Given the description of an element on the screen output the (x, y) to click on. 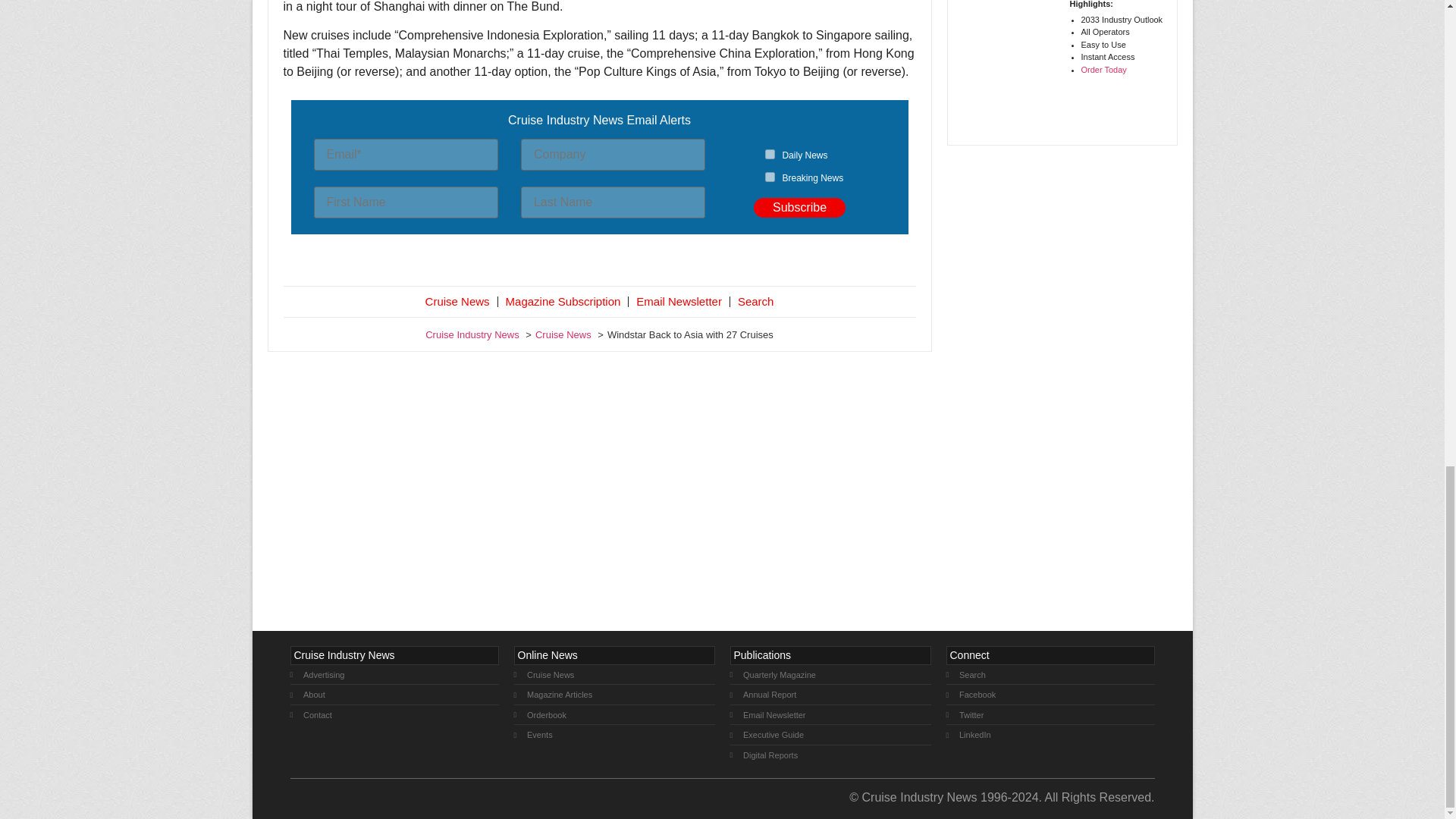
1 (769, 153)
Subscribe (799, 207)
2 (769, 176)
